Given the description of an element on the screen output the (x, y) to click on. 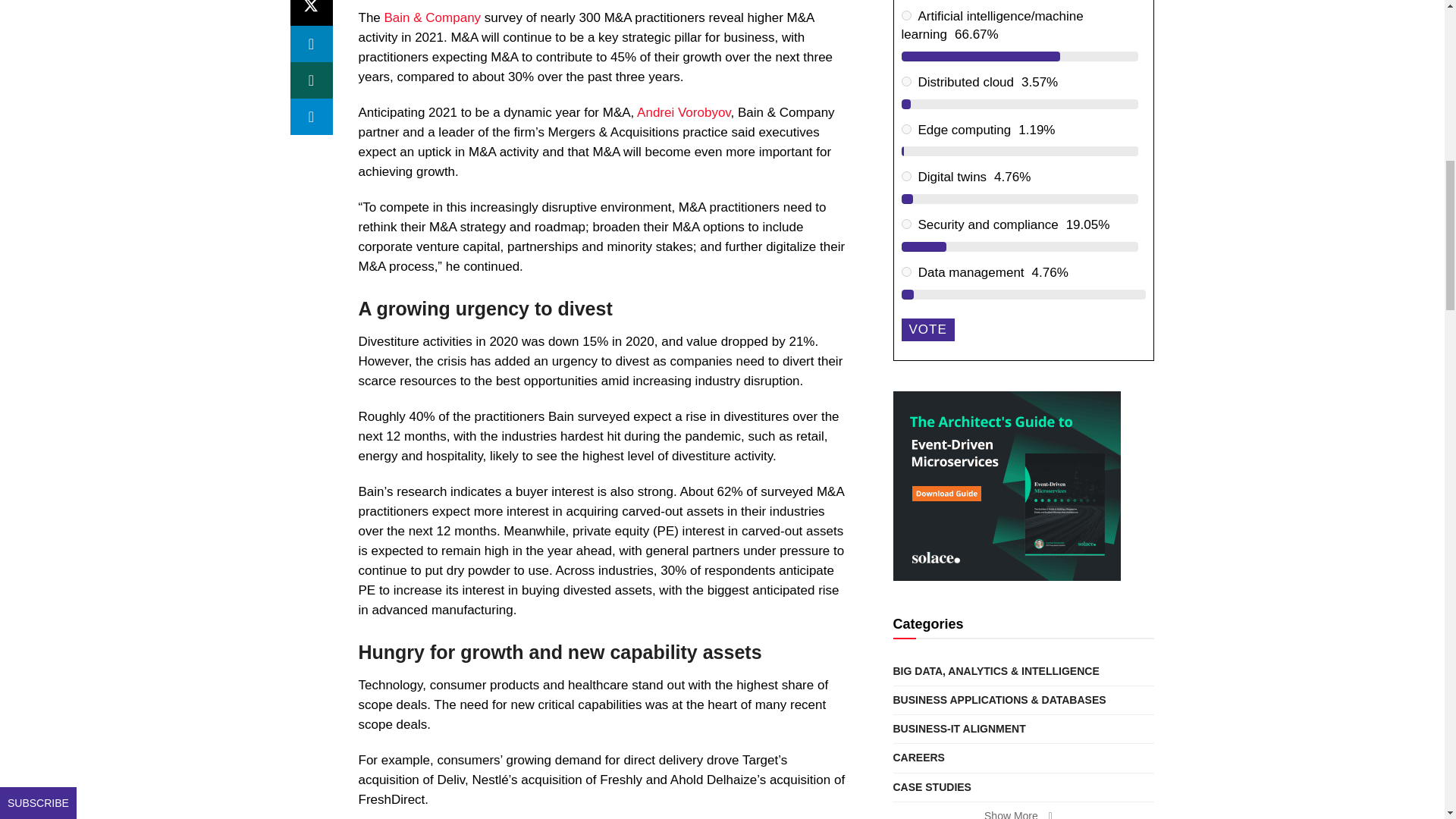
62 (906, 271)
53 (906, 15)
54 (906, 81)
56 (906, 175)
61 (906, 224)
55 (906, 129)
